Given the description of an element on the screen output the (x, y) to click on. 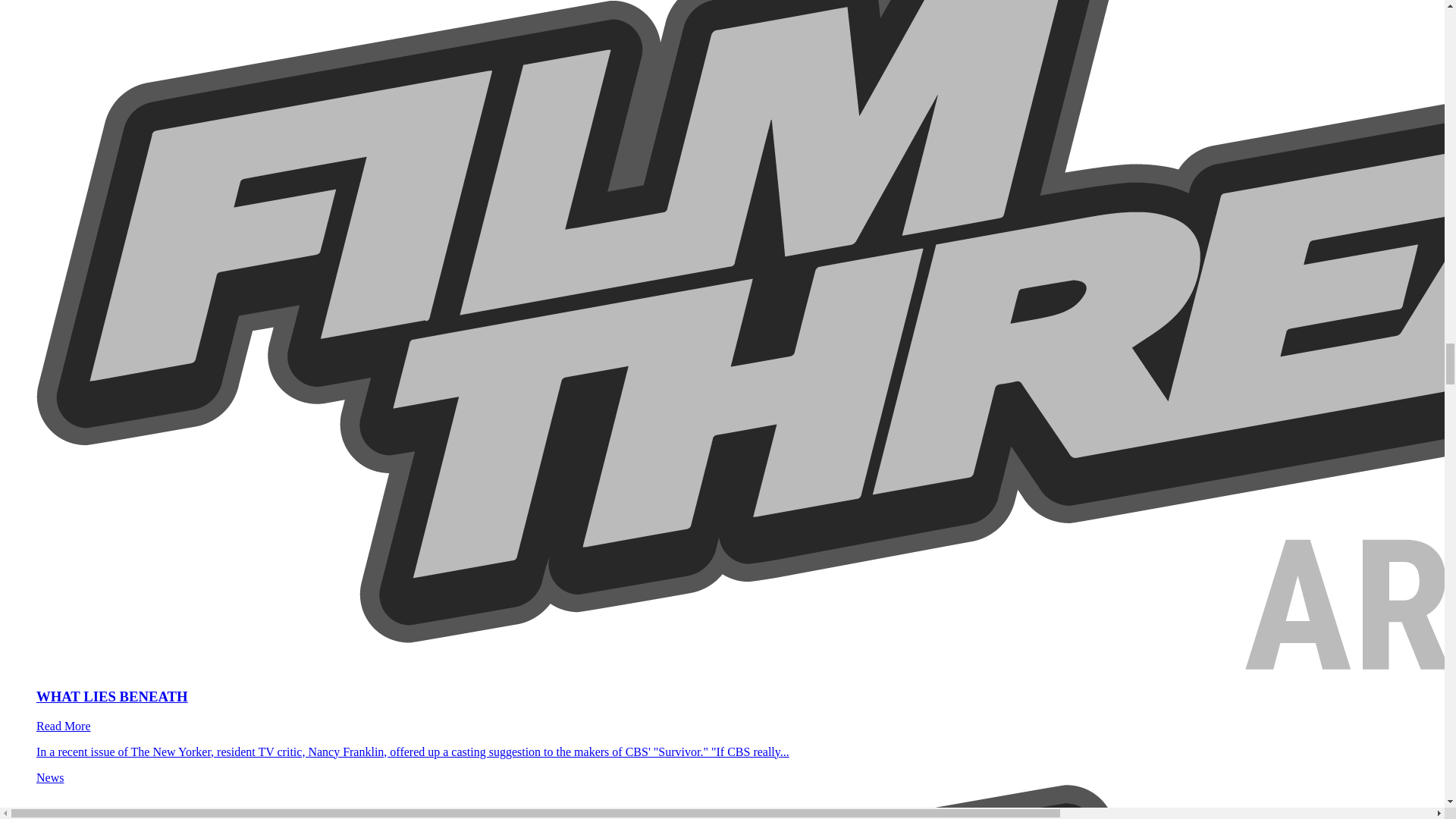
News (50, 777)
